Given the description of an element on the screen output the (x, y) to click on. 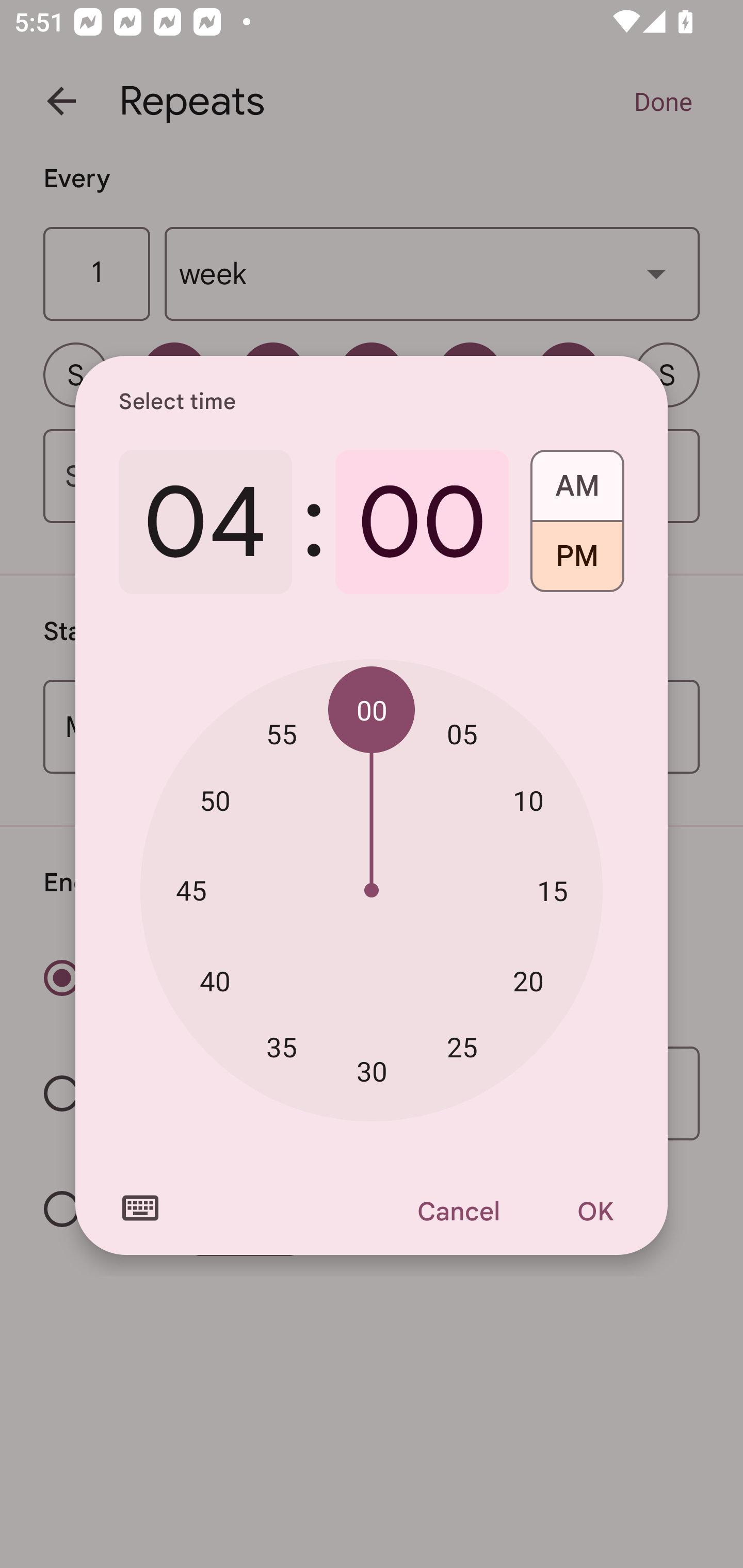
AM (577, 478)
04 4 o'clock (204, 522)
00 0 minutes (421, 522)
PM (577, 563)
00 00 minutes (371, 710)
55 55 minutes (281, 733)
05 05 minutes (462, 733)
50 50 minutes (214, 800)
10 10 minutes (528, 800)
45 45 minutes (190, 889)
15 15 minutes (551, 890)
40 40 minutes (214, 980)
20 20 minutes (528, 980)
35 35 minutes (281, 1046)
25 25 minutes (462, 1046)
30 30 minutes (371, 1071)
Switch to text input mode for the time input. (140, 1208)
Cancel (458, 1211)
OK (595, 1211)
